Given the description of an element on the screen output the (x, y) to click on. 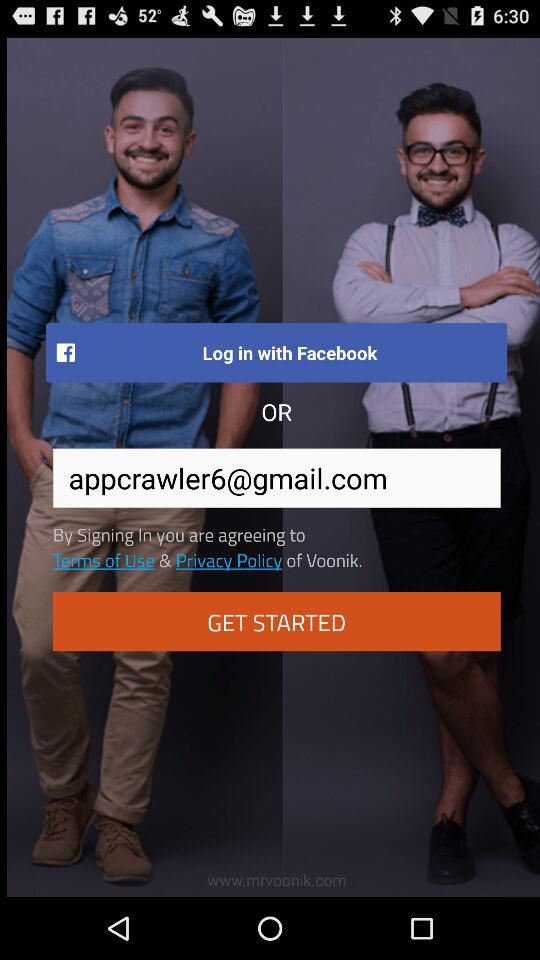
press icon below terms of use icon (276, 621)
